Given the description of an element on the screen output the (x, y) to click on. 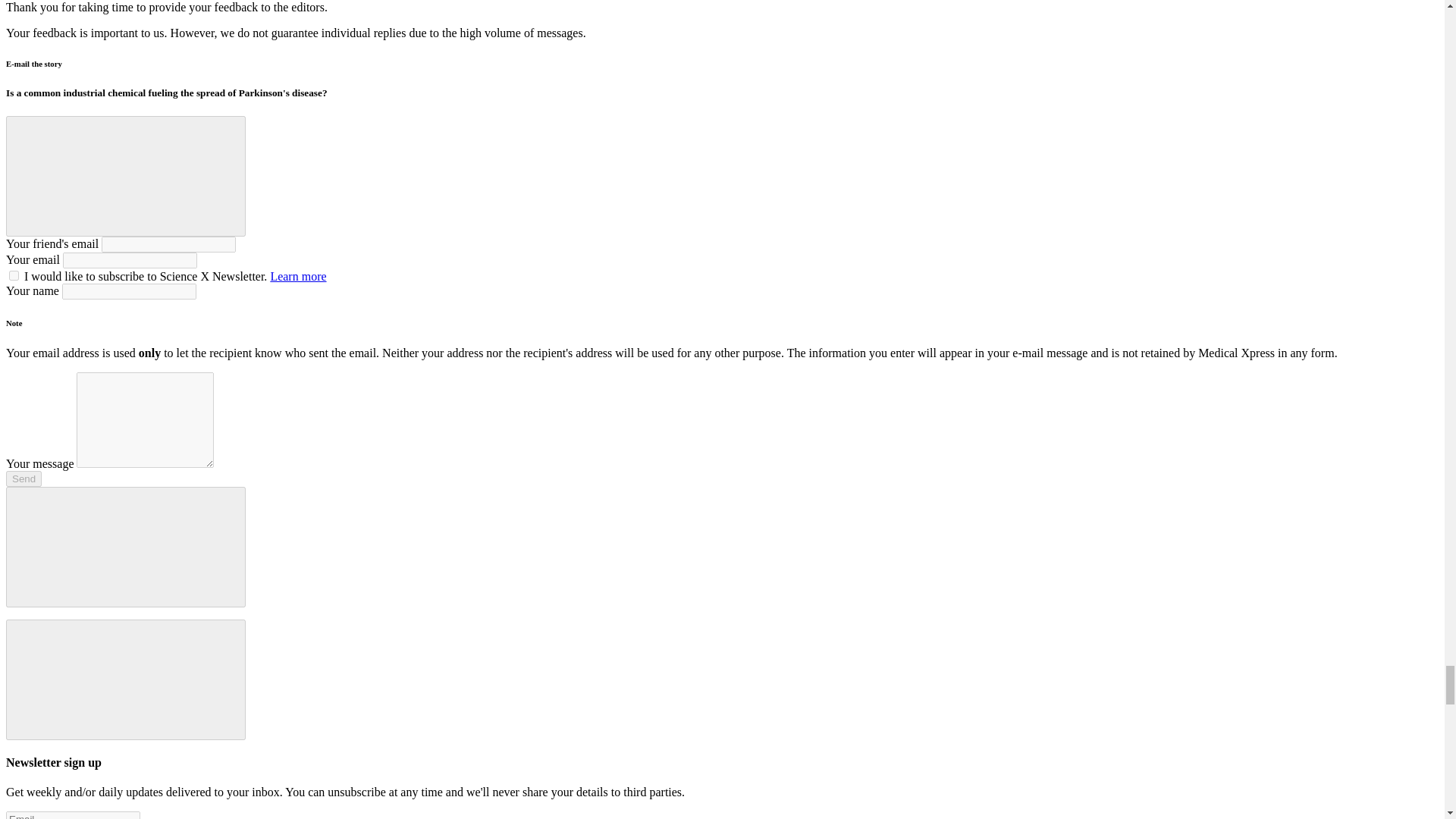
1 (13, 275)
